Given the description of an element on the screen output the (x, y) to click on. 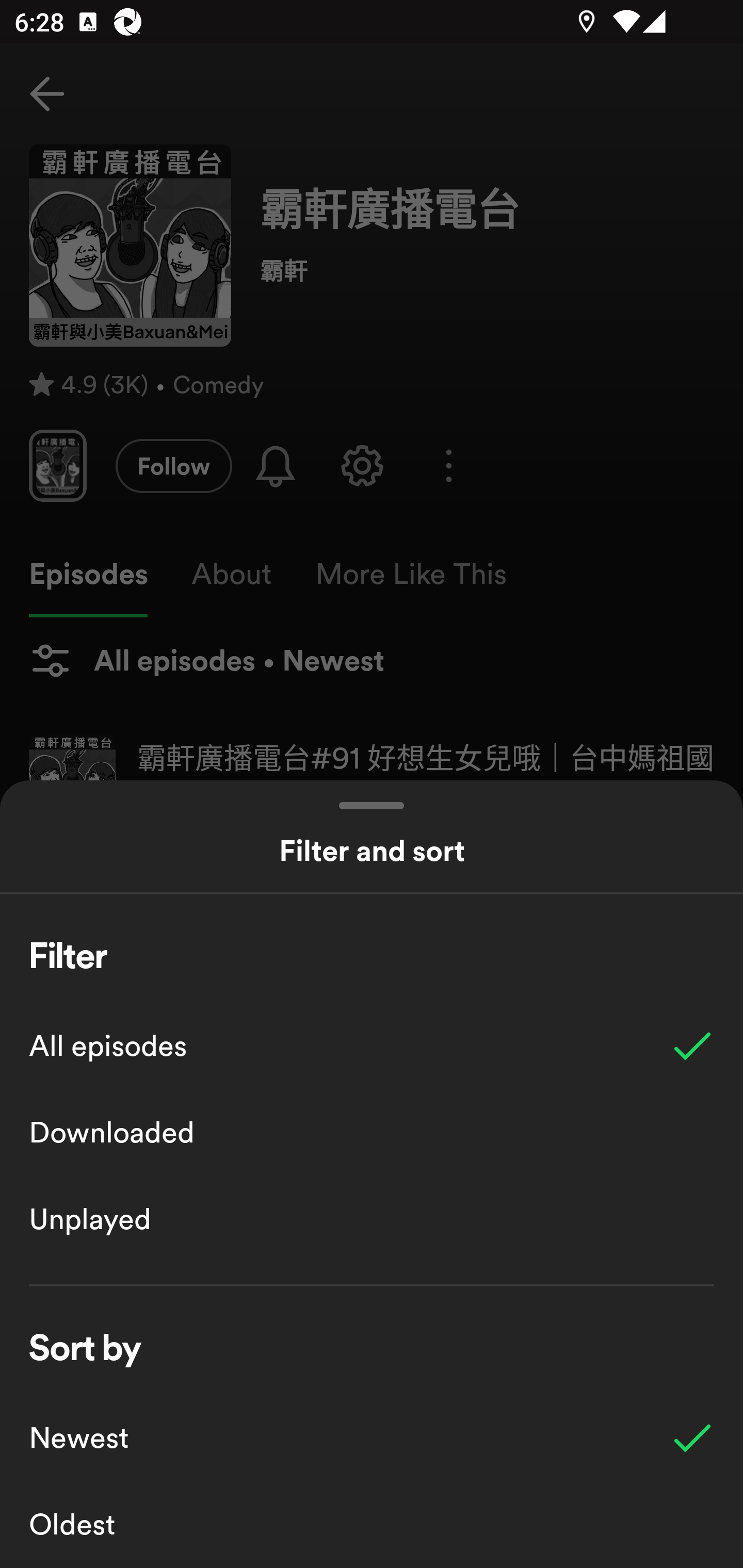
All episodes (371, 1045)
Downloaded (371, 1132)
Unplayed (371, 1219)
Newest (371, 1437)
Oldest (371, 1524)
